Given the description of an element on the screen output the (x, y) to click on. 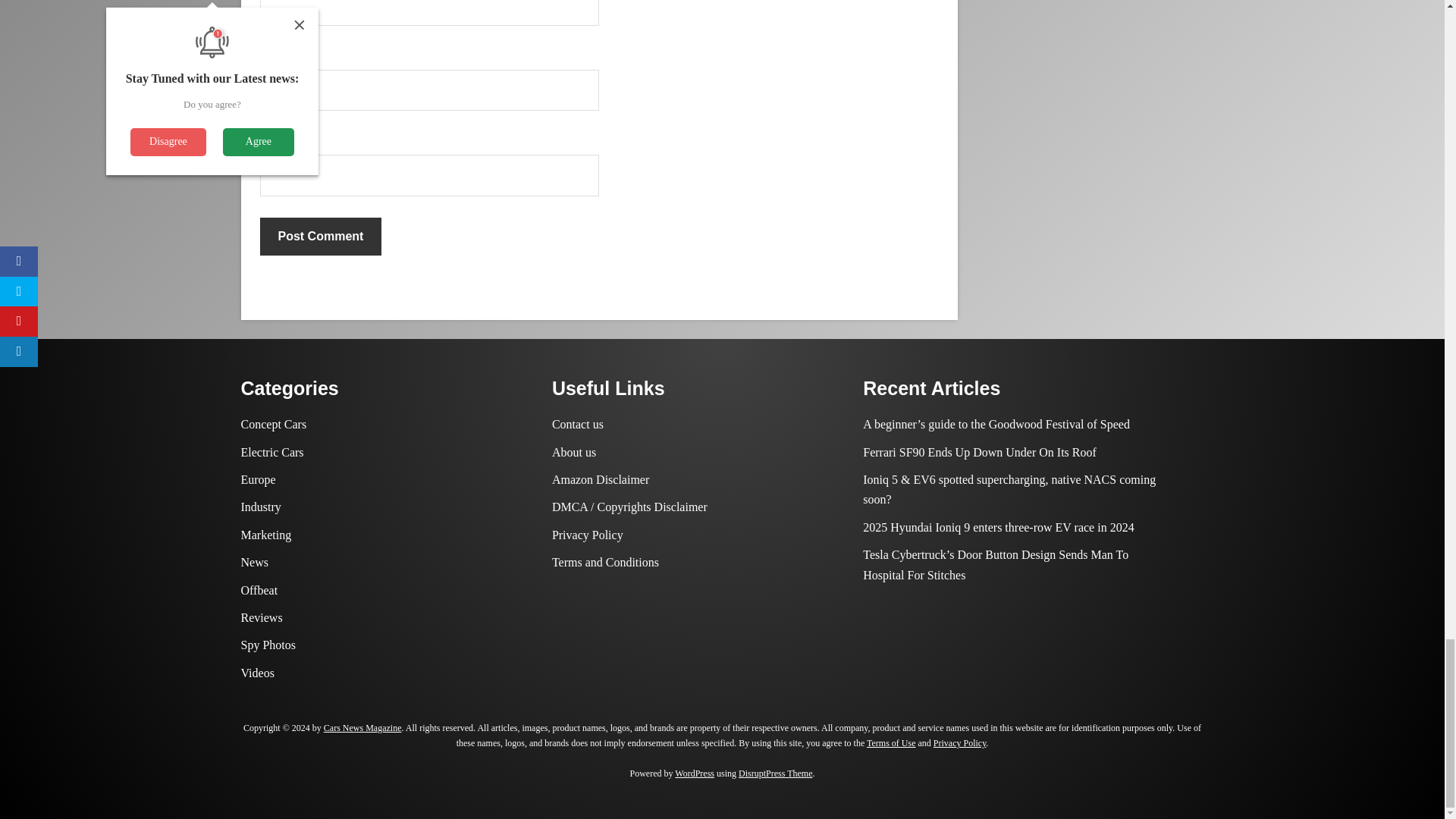
Post Comment (320, 236)
